Given the description of an element on the screen output the (x, y) to click on. 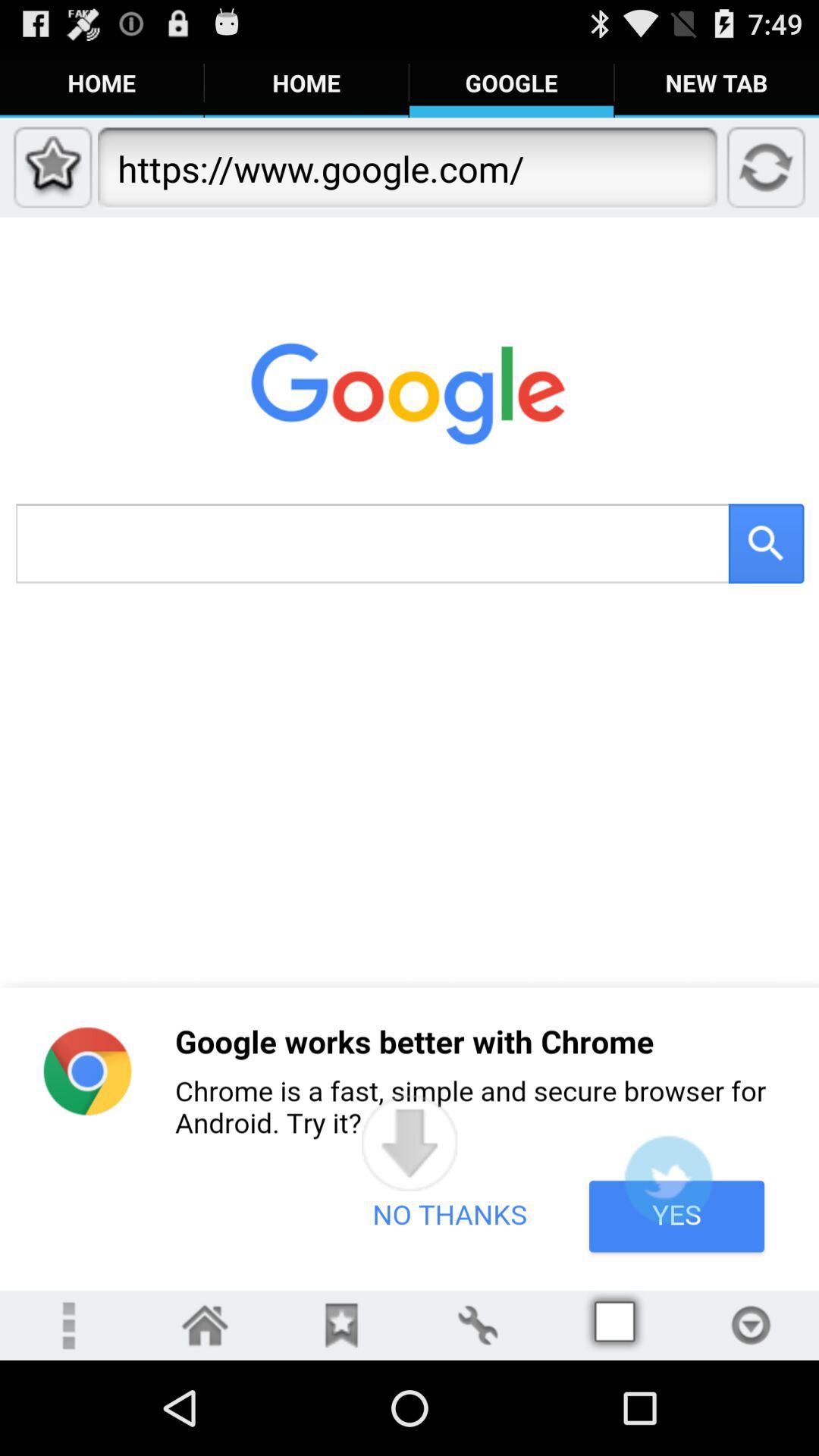
choose app below https www google icon (409, 1142)
